Given the description of an element on the screen output the (x, y) to click on. 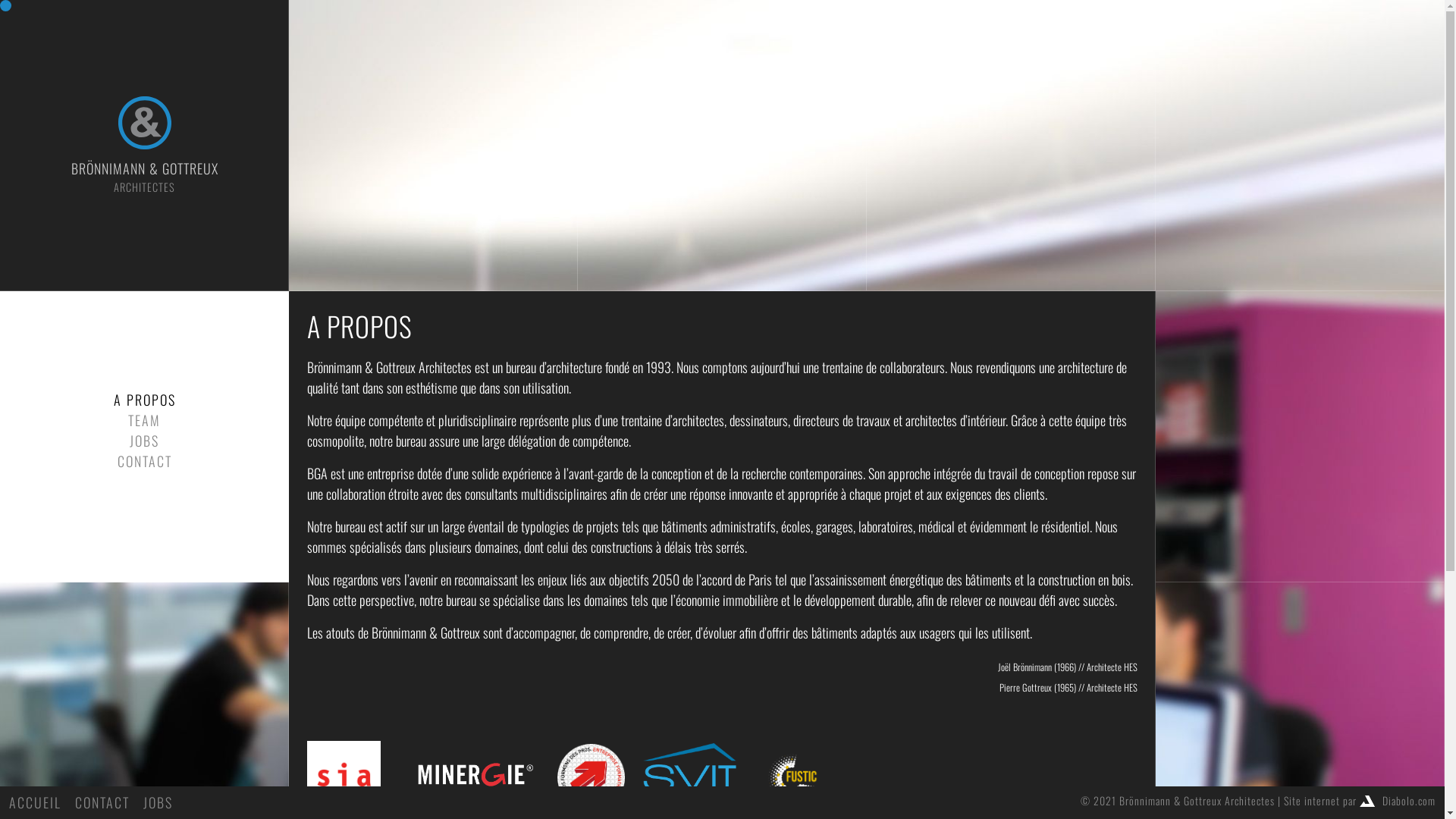
A PROPOS Element type: text (144, 399)
Site internet par Diabolo.com Element type: text (1359, 800)
JOBS Element type: text (157, 802)
JOBS Element type: text (144, 440)
CONTACT Element type: text (143, 460)
ACCUEIL Element type: text (35, 802)
CONTACT Element type: text (102, 802)
TEAM Element type: text (144, 419)
